Given the description of an element on the screen output the (x, y) to click on. 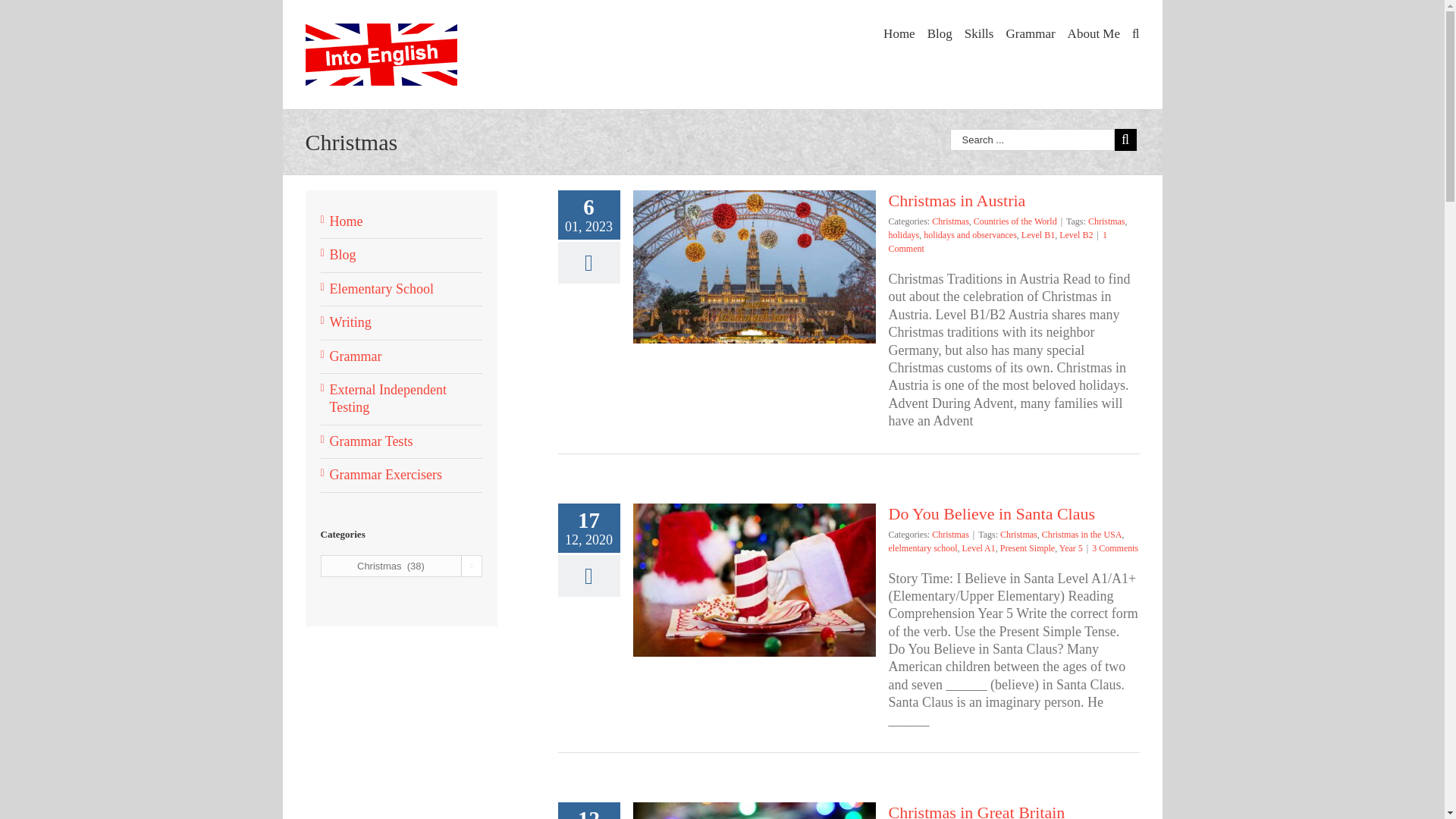
Countries of the World (1015, 221)
Christmas in Austria (957, 199)
Christmas (950, 221)
holidays (904, 235)
Christmas (1106, 221)
